Given the description of an element on the screen output the (x, y) to click on. 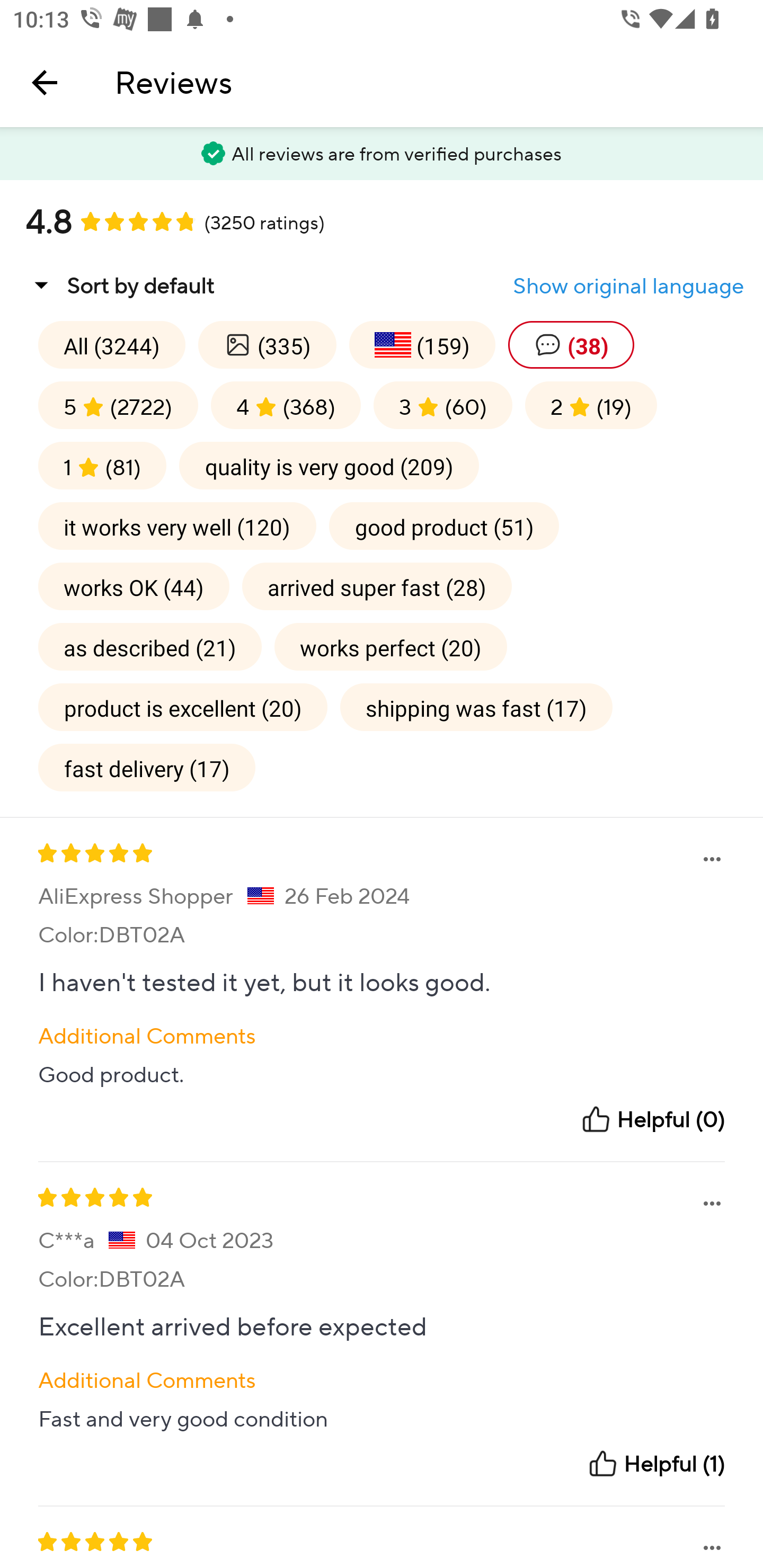
Navigate up (44, 82)
Sort by default (119, 285)
Show original language (627, 285)
All (3244) (111, 344)
 (335) (267, 344)
 (159) (422, 344)
 (38) (571, 344)
5 (2722) (118, 405)
4 (368) (285, 405)
3 (60) (442, 405)
2 (19) (590, 405)
1 (81) (102, 465)
quality is very good (209) (329, 465)
it works very well (120) (177, 525)
good product (51) (443, 525)
works OK (44) (133, 585)
arrived super fast (28) (376, 585)
as described (21) (149, 646)
works perfect (20) (390, 646)
product is excellent (20) (182, 706)
shipping was fast (17) (476, 706)
fast delivery (17) (146, 767)
Helpful (0) (651, 1119)
Helpful (1) (655, 1463)
